Given the description of an element on the screen output the (x, y) to click on. 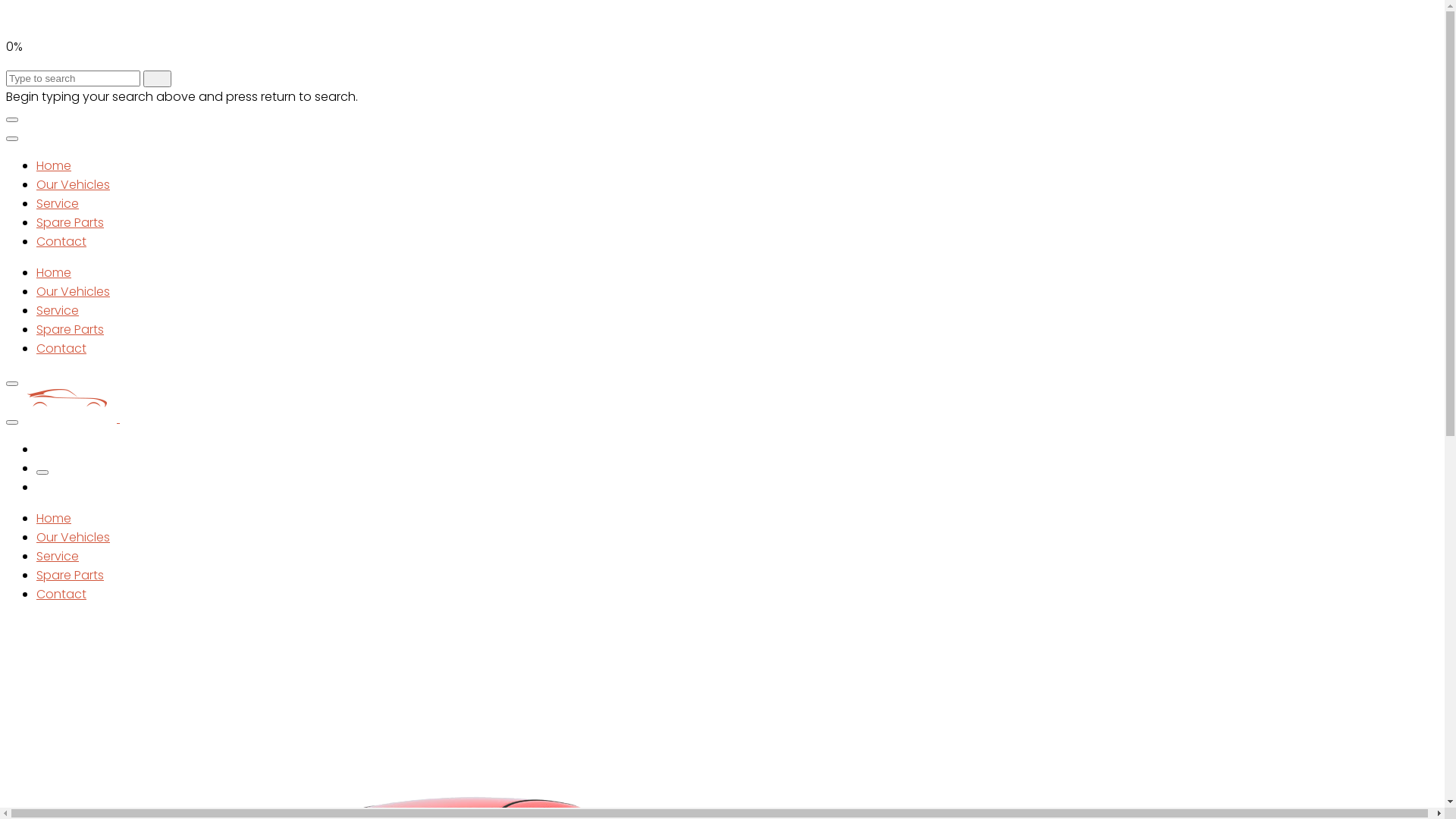
Spare Parts Element type: text (69, 574)
Our Vehicles Element type: text (72, 291)
Home Element type: text (53, 272)
Contact Element type: text (61, 348)
Home Element type: text (53, 165)
Service Element type: text (57, 203)
Spare Parts Element type: text (69, 222)
Our Vehicles Element type: text (72, 537)
Our Vehicles Element type: text (72, 184)
Contact Element type: text (61, 593)
Service Element type: text (57, 310)
Spare Parts Element type: text (69, 329)
Service Element type: text (57, 555)
Contact Element type: text (61, 241)
Home Element type: text (53, 518)
